Given the description of an element on the screen output the (x, y) to click on. 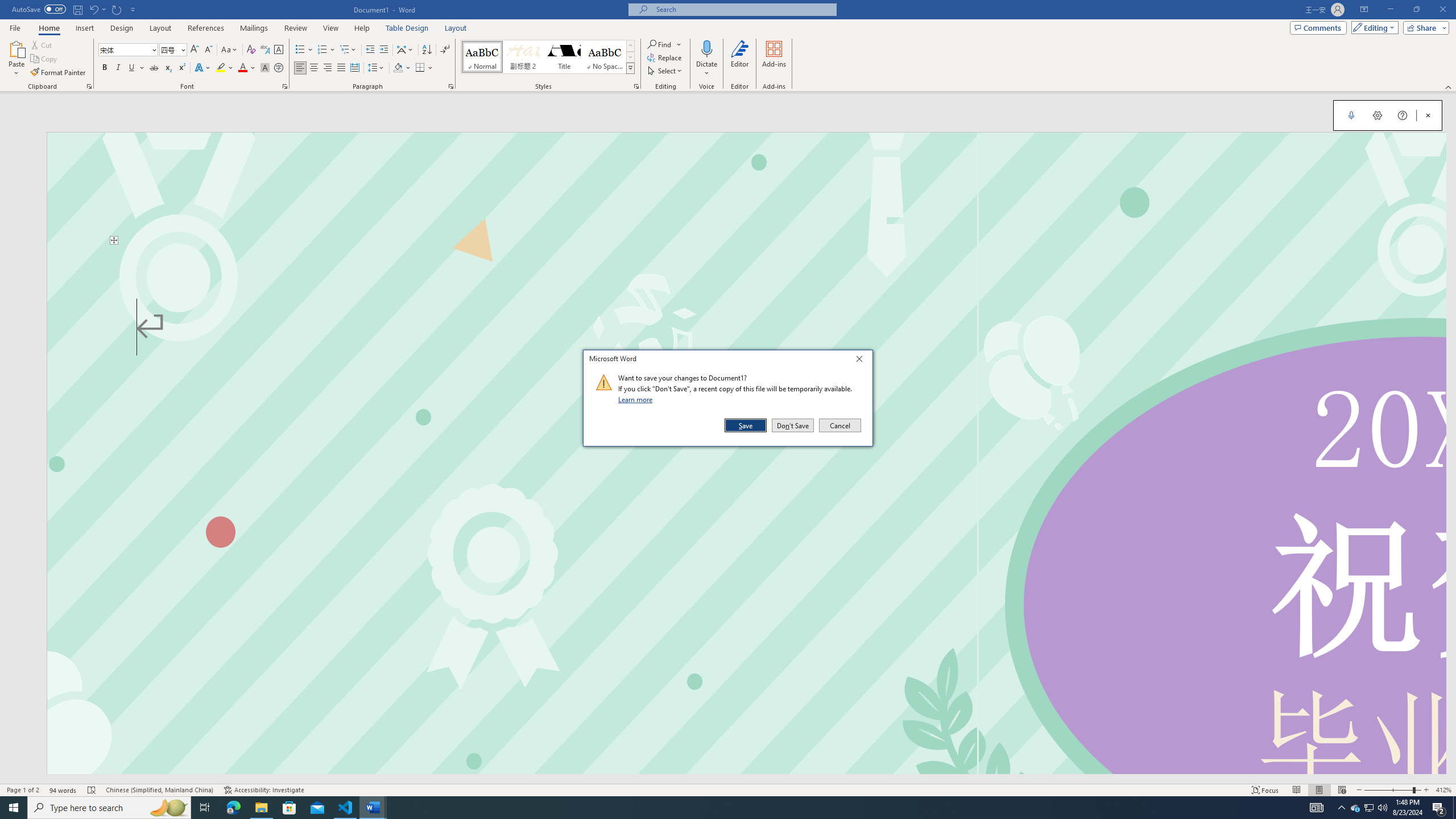
Running applications (717, 807)
